Given the description of an element on the screen output the (x, y) to click on. 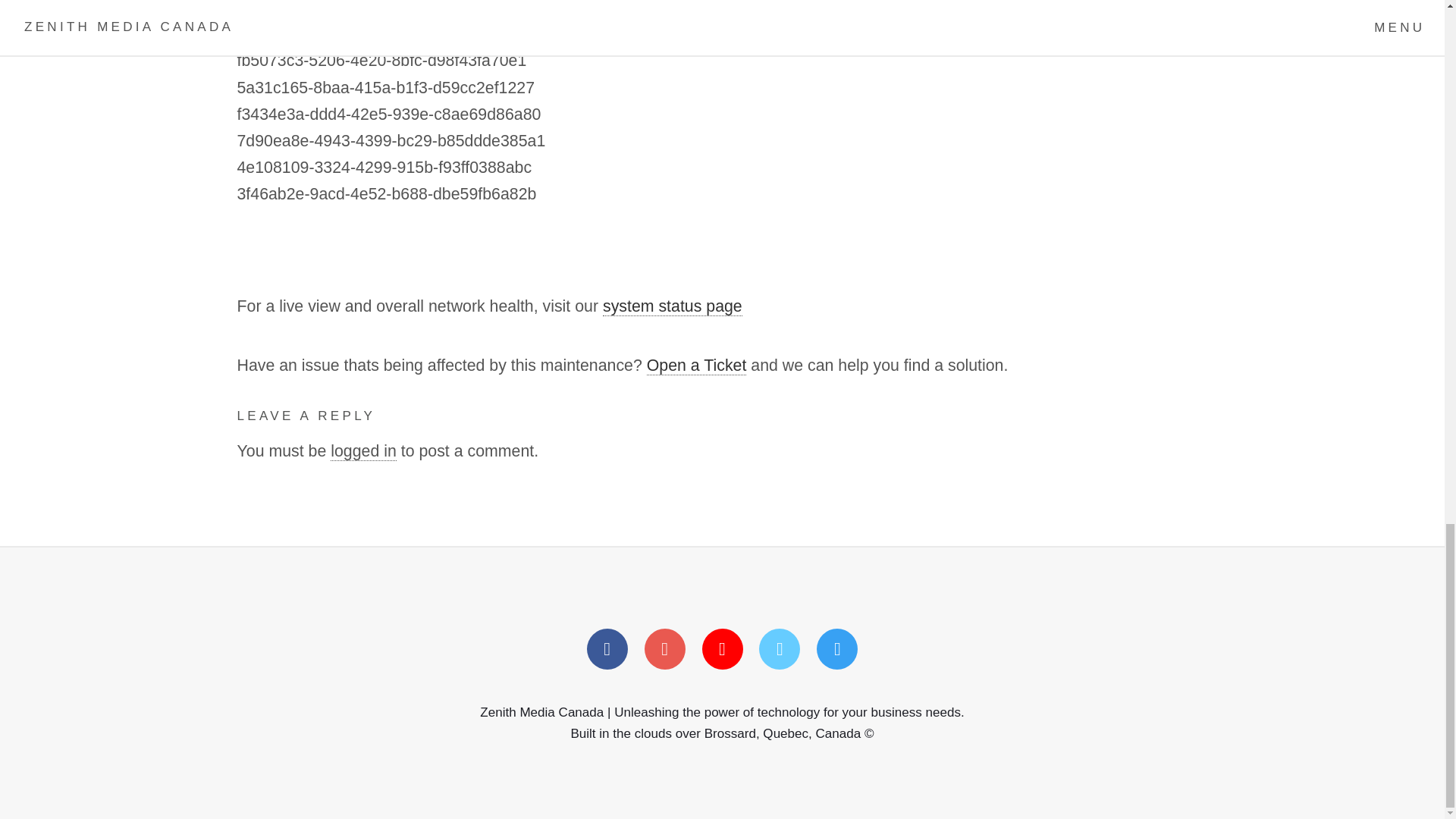
telephone (778, 649)
linkedin (721, 649)
logged in (363, 451)
facebook (606, 649)
system status page (672, 306)
Open a Ticket (696, 365)
twitter (665, 649)
email (836, 649)
